Given the description of an element on the screen output the (x, y) to click on. 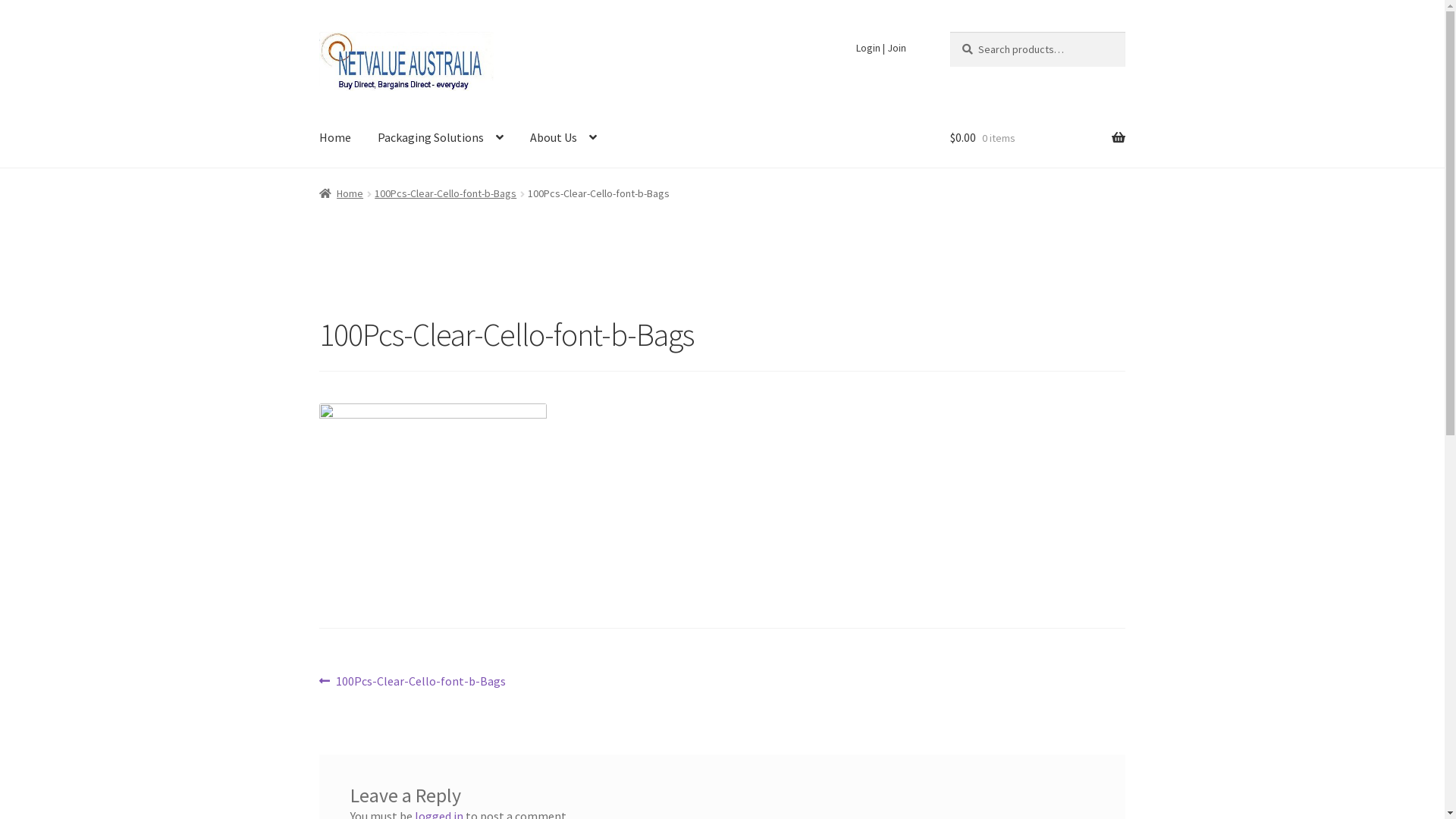
Packaging Solutions Element type: text (440, 137)
Home Element type: text (335, 137)
100Pcs-Clear-Cello-font-b-Bags Element type: text (445, 193)
$0.00 0 items Element type: text (1037, 137)
About Us Element type: text (562, 137)
Skip to navigation Element type: text (318, 31)
Search Element type: text (949, 31)
Home Element type: text (341, 193)
Login | Join Element type: text (880, 47)
Previous post:
100Pcs-Clear-Cello-font-b-Bags Element type: text (412, 680)
